Given the description of an element on the screen output the (x, y) to click on. 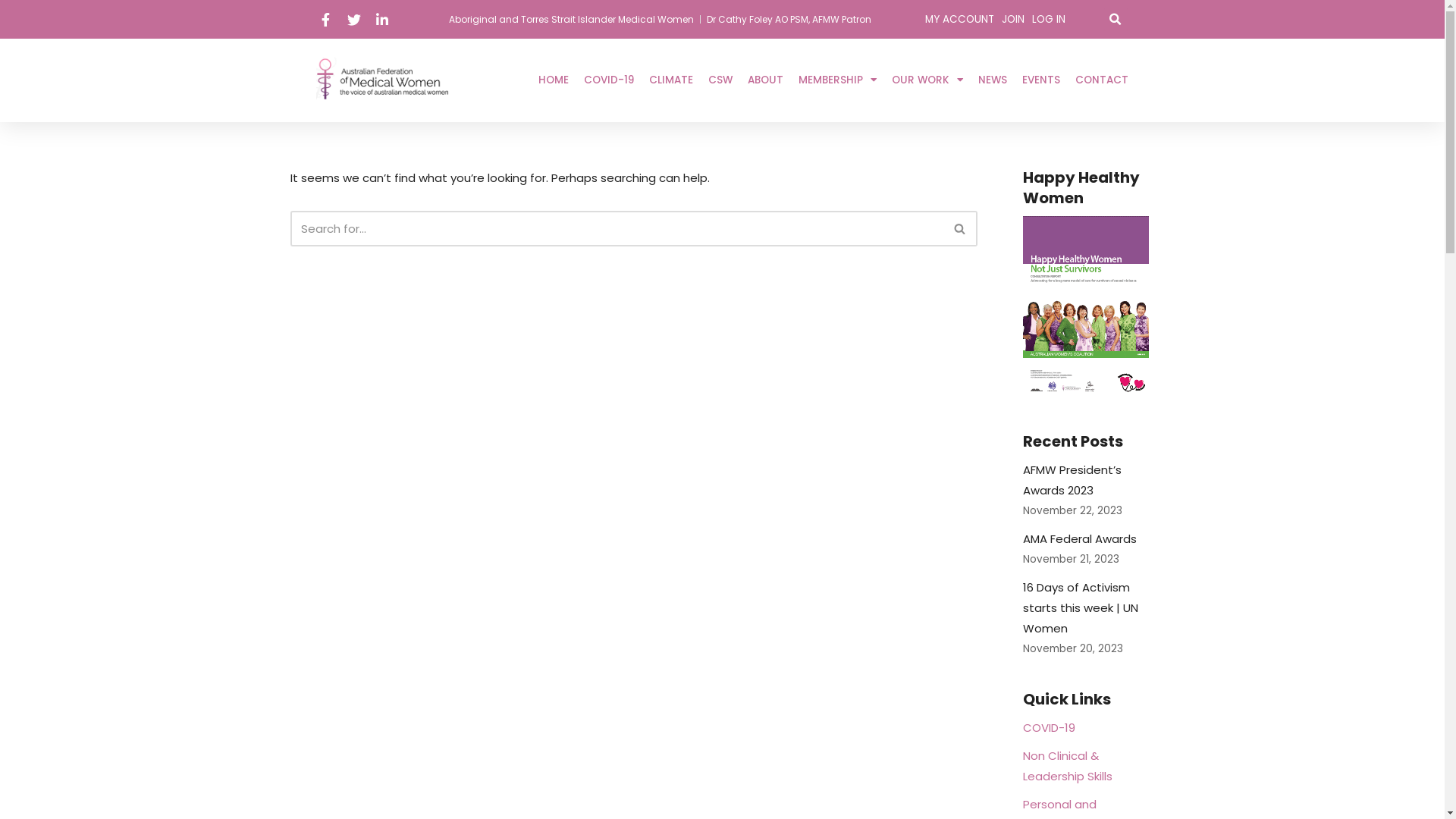
Non Clinical & Leadership Skills Element type: text (1066, 765)
AMA Federal Awards Element type: text (1078, 538)
OUR WORK Element type: text (927, 80)
CONTACT Element type: text (1101, 80)
16 Days of Activism starts this week | UN Women Element type: text (1079, 607)
COVID-19 Element type: text (1048, 727)
NEWS Element type: text (992, 80)
LOG IN Element type: text (1048, 19)
Skip to content Element type: text (11, 31)
MY ACCOUNT Element type: text (959, 19)
HOME Element type: text (553, 80)
EVENTS Element type: text (1041, 80)
JOIN Element type: text (1012, 19)
CSW Element type: text (720, 80)
Dr Cathy Foley AO PSM, AFMW Patron Element type: text (788, 19)
MEMBERSHIP Element type: text (837, 80)
Aboriginal and Torres Strait Islander Medical Women Element type: text (570, 19)
COVID-19 Element type: text (608, 80)
ABOUT Element type: text (765, 80)
CLIMATE Element type: text (671, 80)
